Given the description of an element on the screen output the (x, y) to click on. 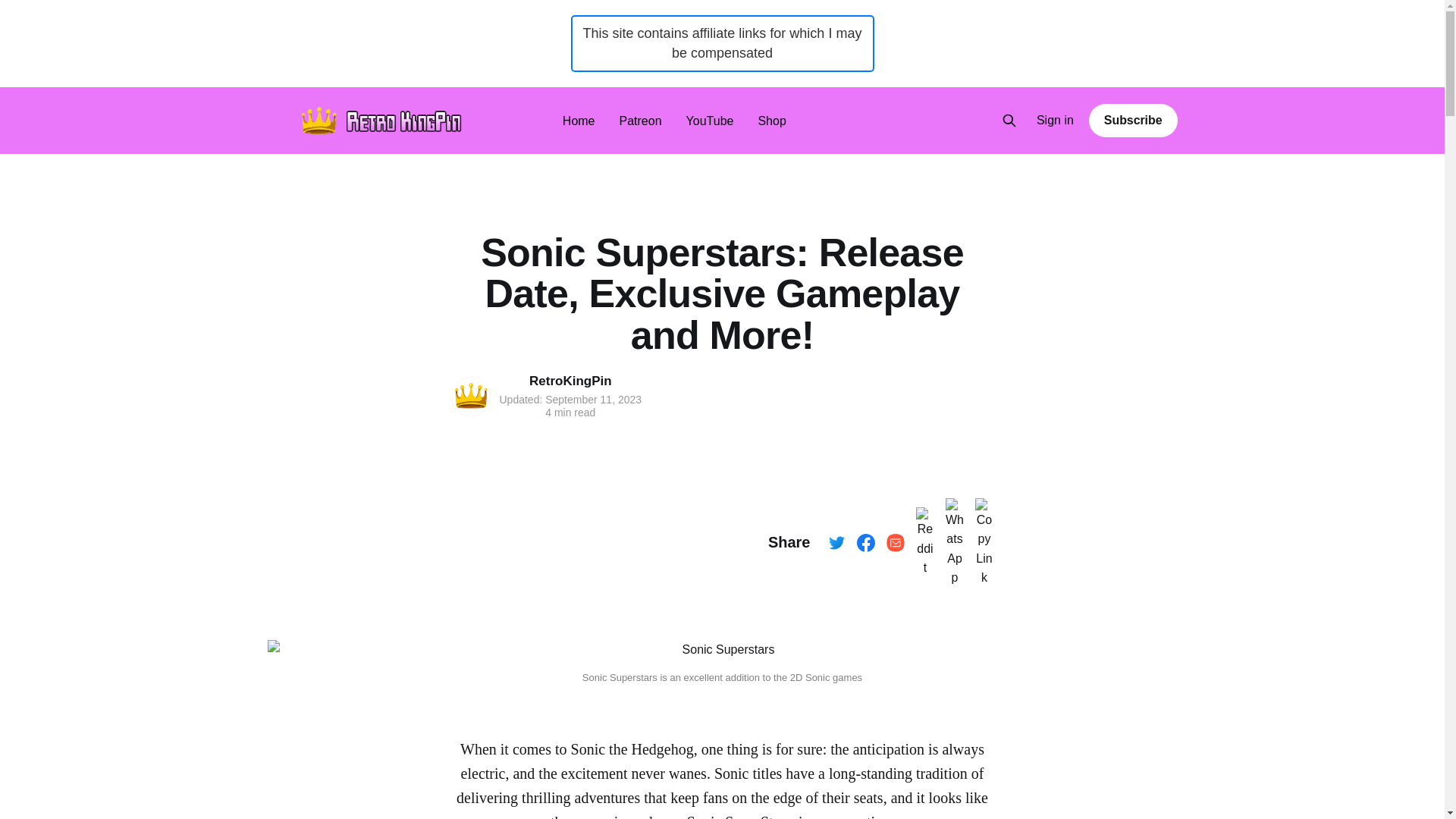
YouTube (709, 120)
Home (578, 120)
Sign in (1055, 120)
Subscribe (1133, 120)
RetroKingPin (570, 380)
Shop (771, 120)
Patreon (641, 120)
